Given the description of an element on the screen output the (x, y) to click on. 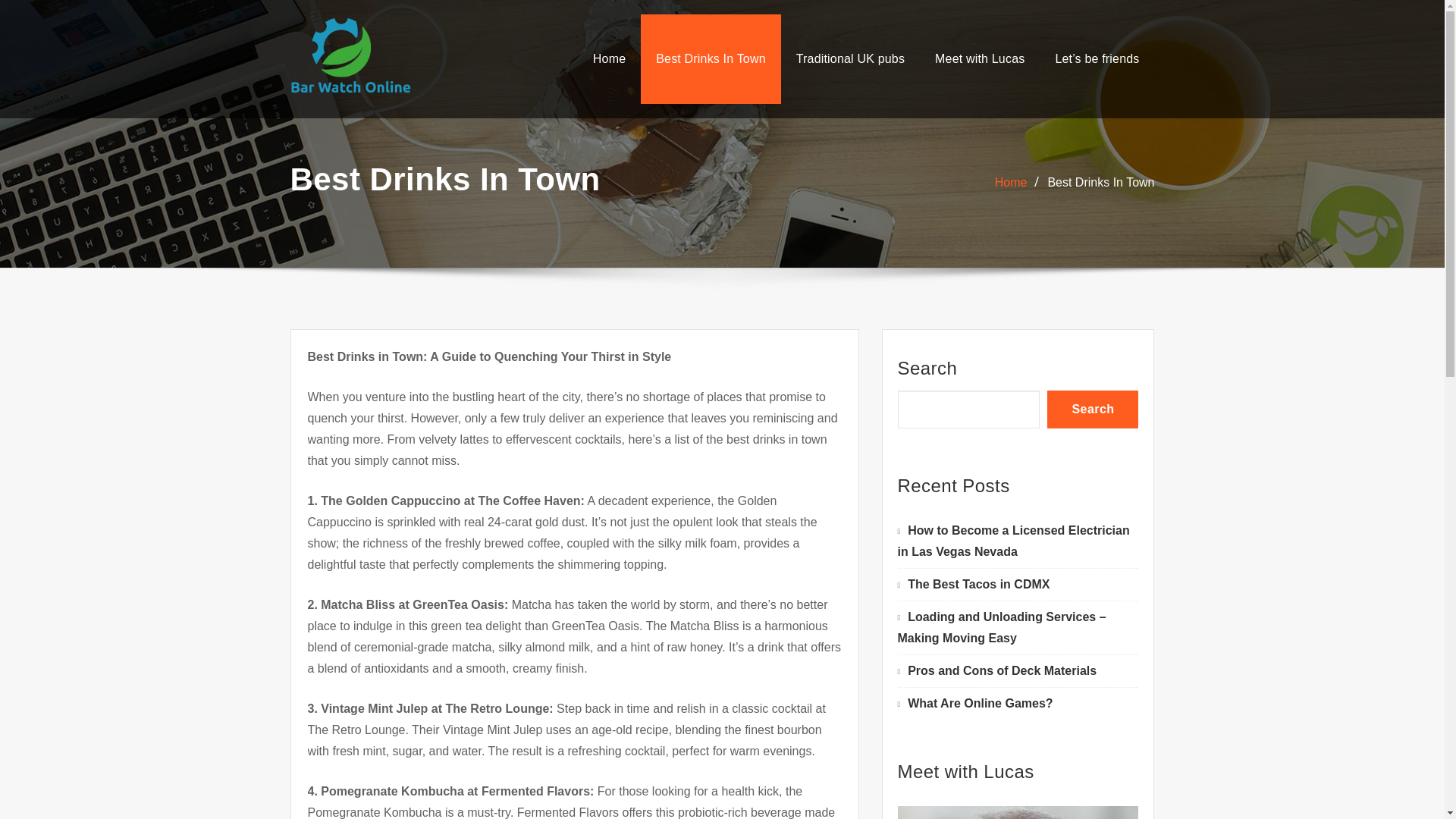
Pros and Cons of Deck Materials (1001, 670)
Traditional UK pubs (850, 59)
What Are Online Games? (979, 703)
Search (1092, 409)
Best Drinks In Town (710, 59)
Meet with Lucas (979, 59)
Home (1010, 182)
Best Drinks In Town (1100, 182)
How to Become a Licensed Electrician in Las Vegas Nevada (1013, 540)
The Best Tacos in CDMX (978, 584)
